Given the description of an element on the screen output the (x, y) to click on. 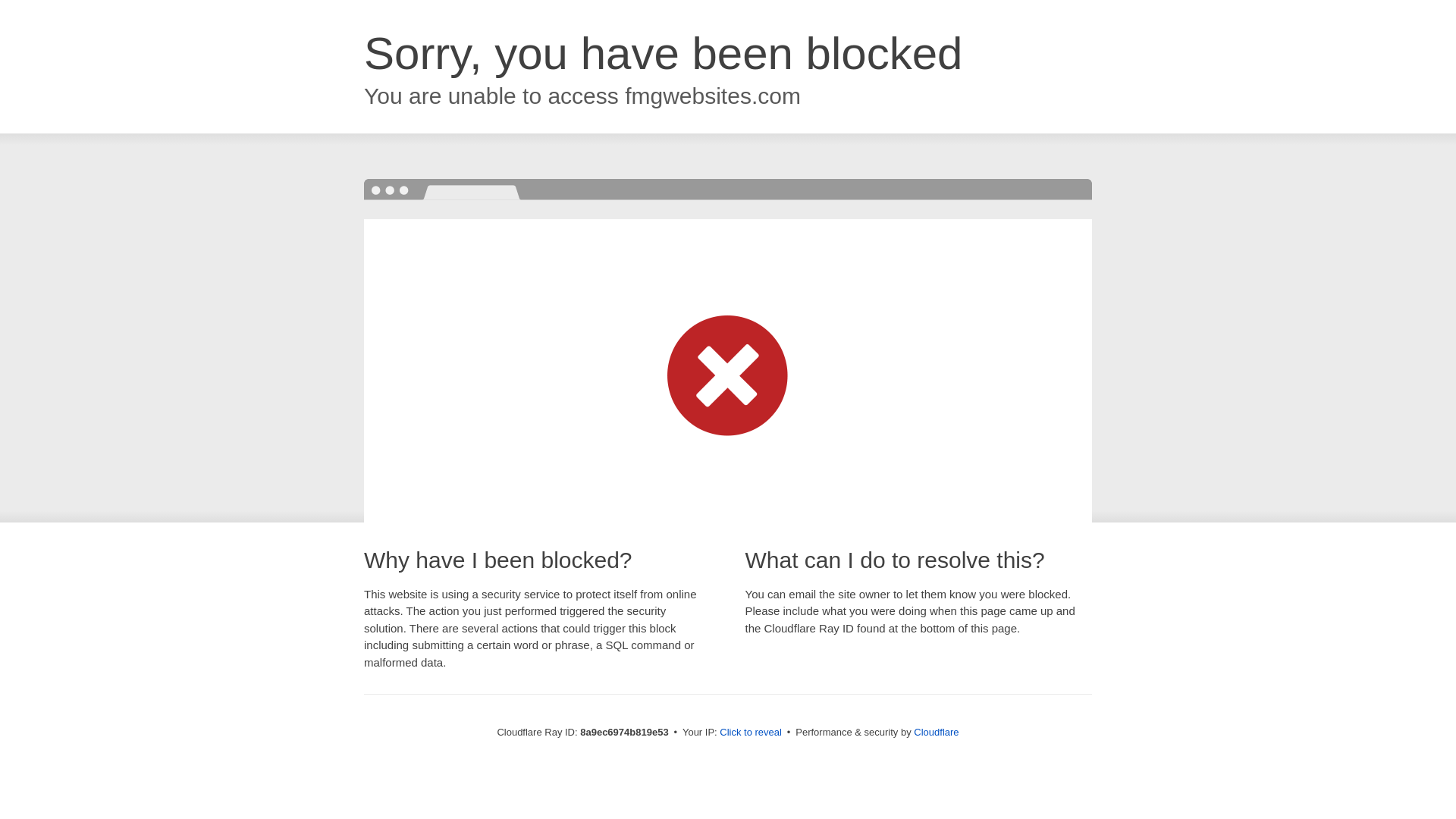
Cloudflare (936, 731)
Click to reveal (750, 732)
